Given the description of an element on the screen output the (x, y) to click on. 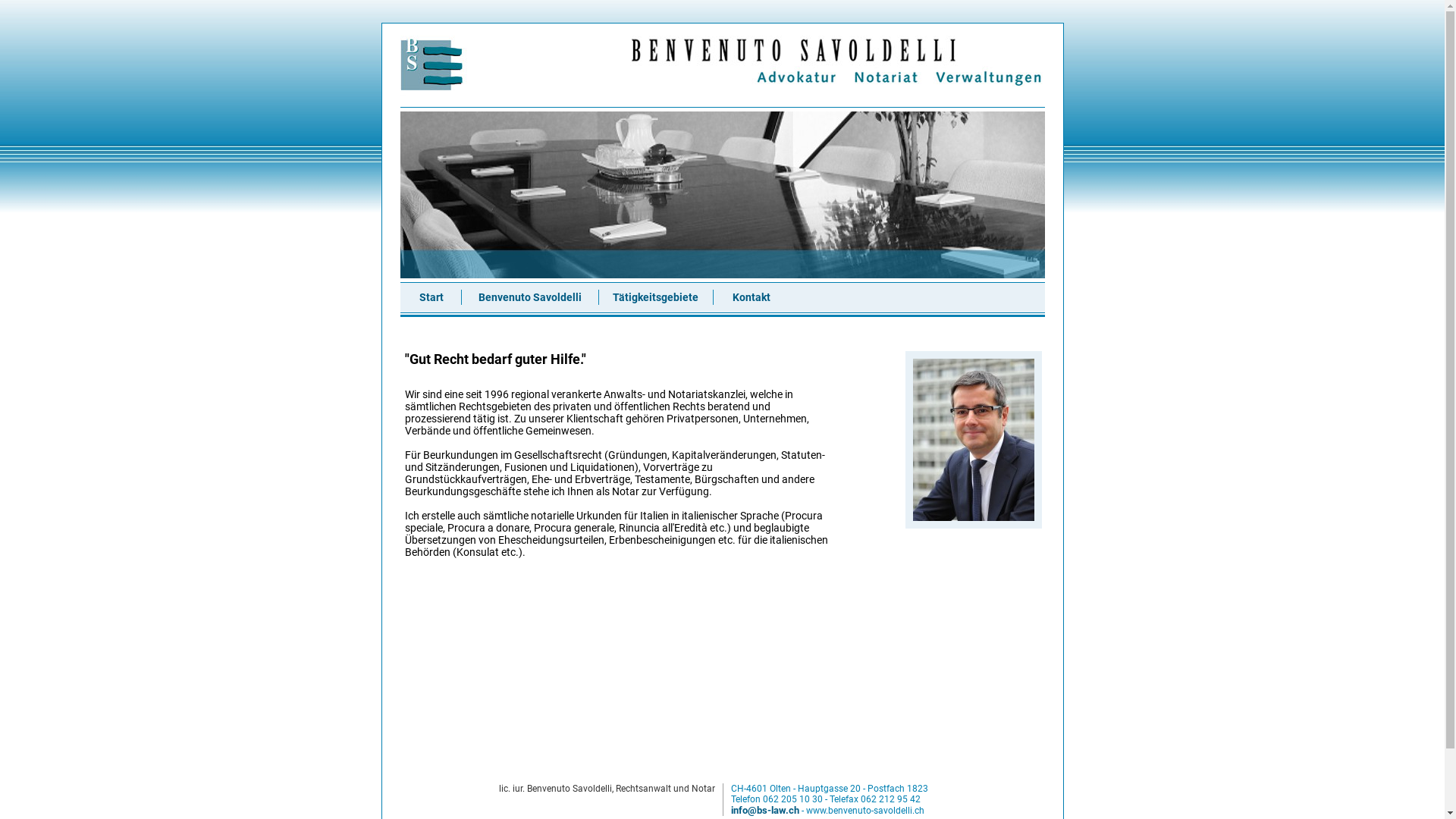
Benvenuto Savoldelli Element type: text (528, 297)
info@bs-law.ch Element type: text (765, 809)
Kontakt Element type: text (751, 297)
Start Element type: text (431, 297)
